Given the description of an element on the screen output the (x, y) to click on. 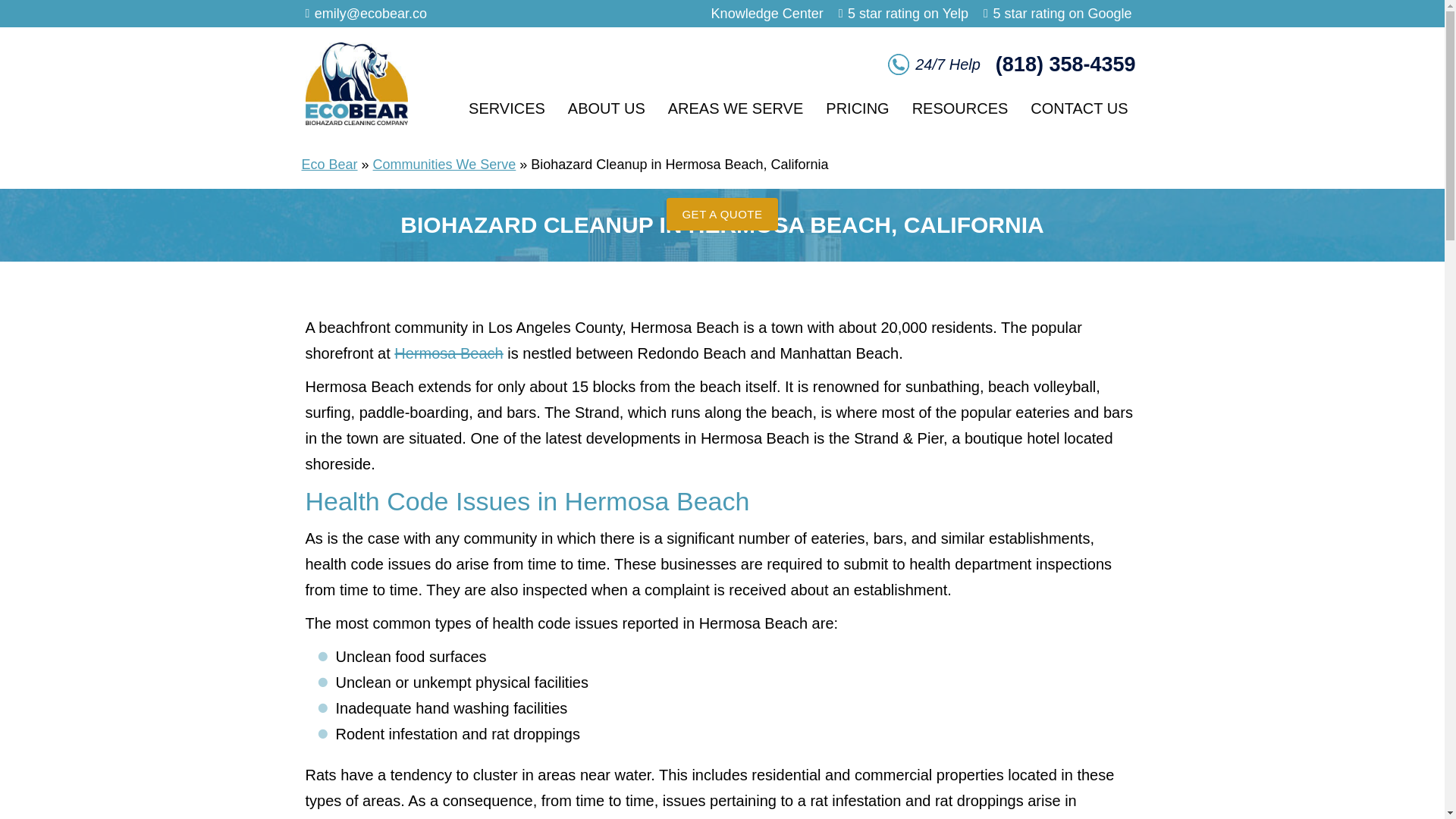
CONTACT US (1078, 108)
Knowledge Center (767, 13)
AREAS WE SERVE (735, 108)
5 star rating on Yelp (907, 13)
ABOUT US (606, 108)
SERVICES (506, 108)
RESOURCES (960, 108)
PRICING (856, 108)
5 star rating on Google (1061, 13)
